Given the description of an element on the screen output the (x, y) to click on. 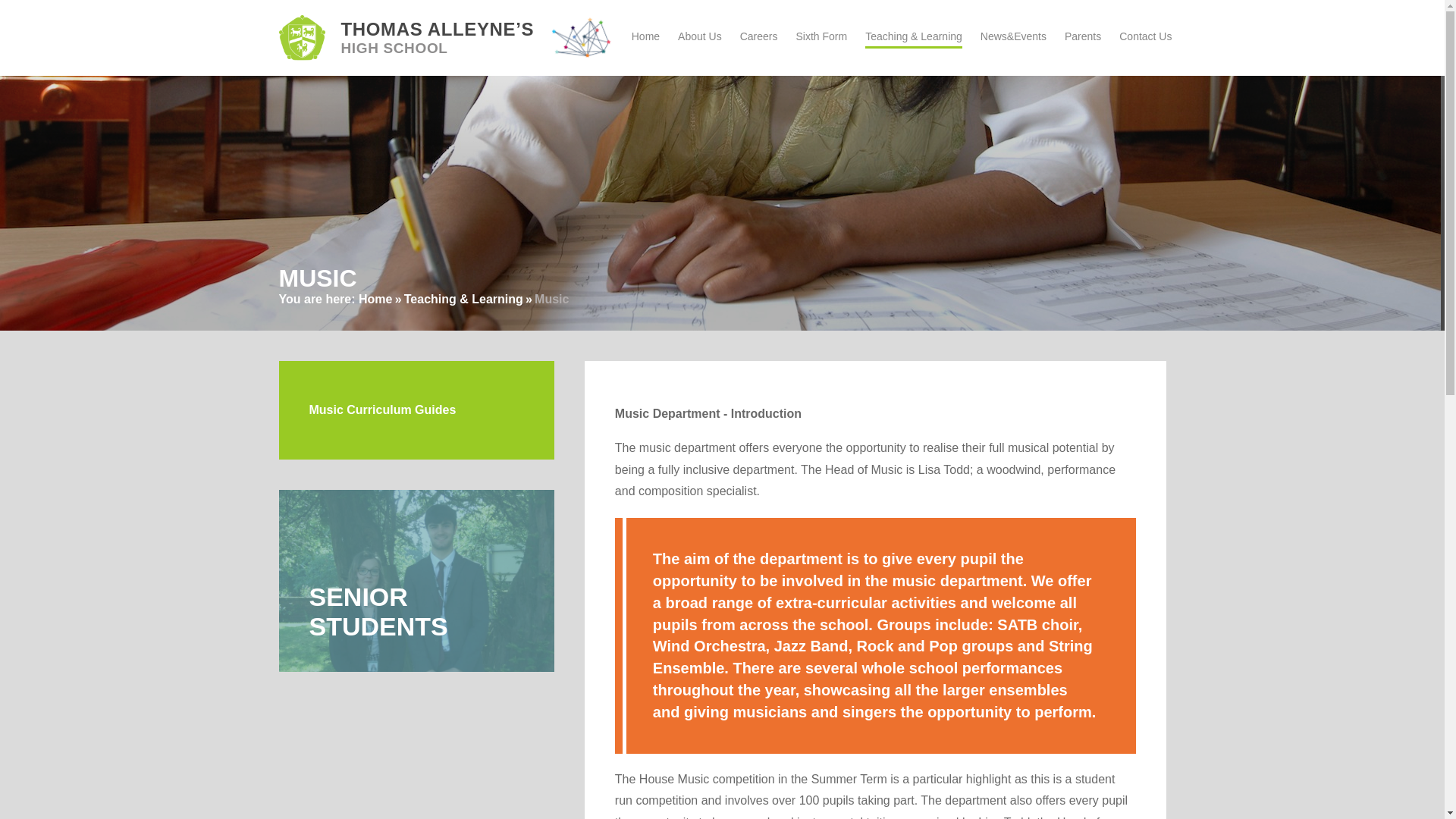
Contact Us (1144, 36)
Careers (758, 36)
Home (645, 36)
Home (374, 298)
Music (551, 298)
SENIOR STUDENTS (416, 580)
Uttoxeter Learning Trust (581, 37)
Music Curriculum Guides (416, 410)
About Us (699, 36)
Sixth Form (821, 36)
